Given the description of an element on the screen output the (x, y) to click on. 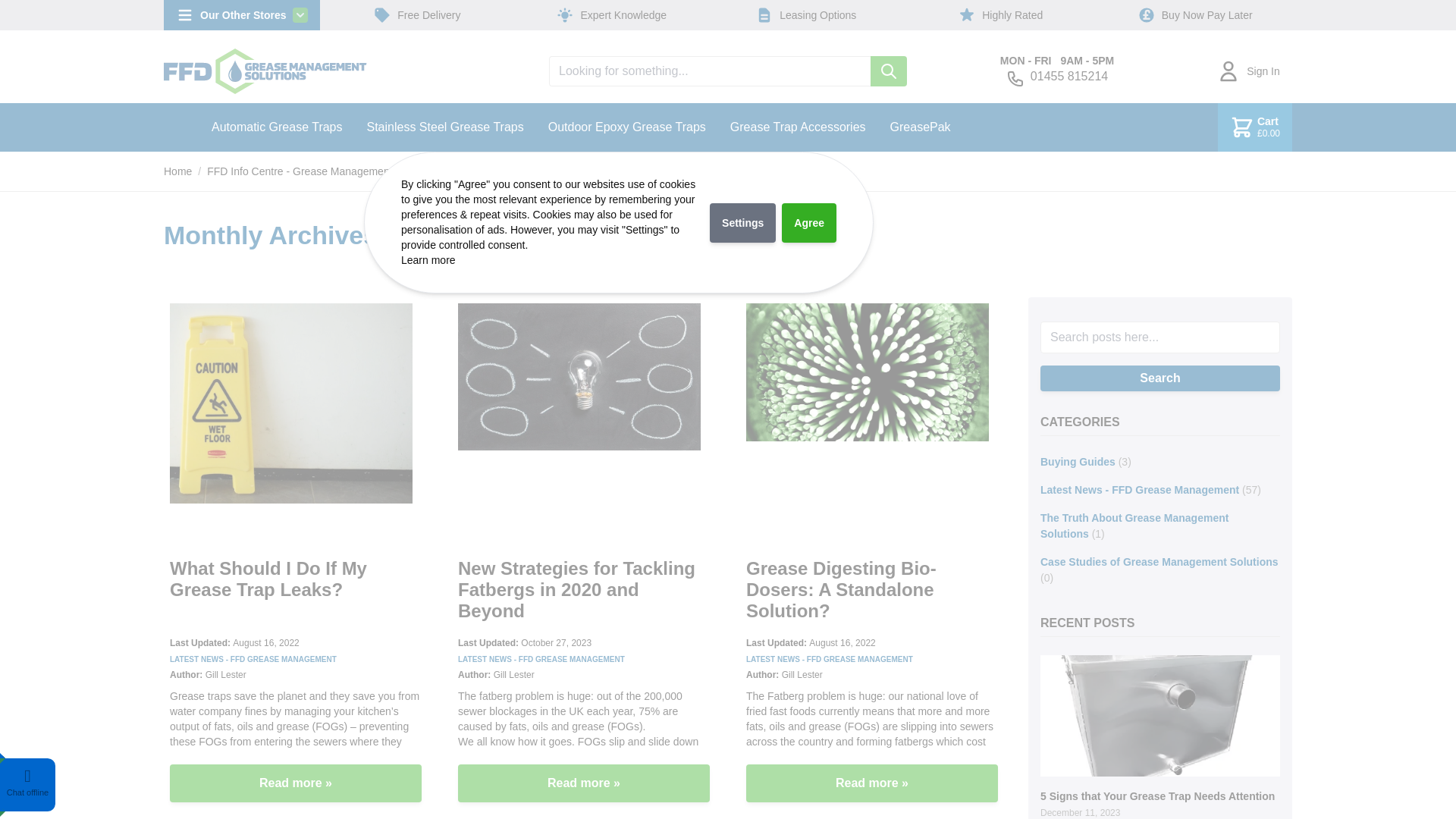
Leasing Options (805, 14)
Highly Rated (1000, 14)
Grease Trap Accessories (797, 129)
FFD Grease Management Solutions (264, 71)
Learn more (428, 259)
GreasePak (919, 129)
01455 815214 (1069, 75)
Automatic Grease Traps (277, 129)
Stainless Steel Grease Traps (445, 129)
Settings (743, 222)
GreasePak (919, 129)
Outdoor Epoxy Grease Traps (626, 129)
Free Delivery (416, 14)
Our Other Stores (241, 15)
